Given the description of an element on the screen output the (x, y) to click on. 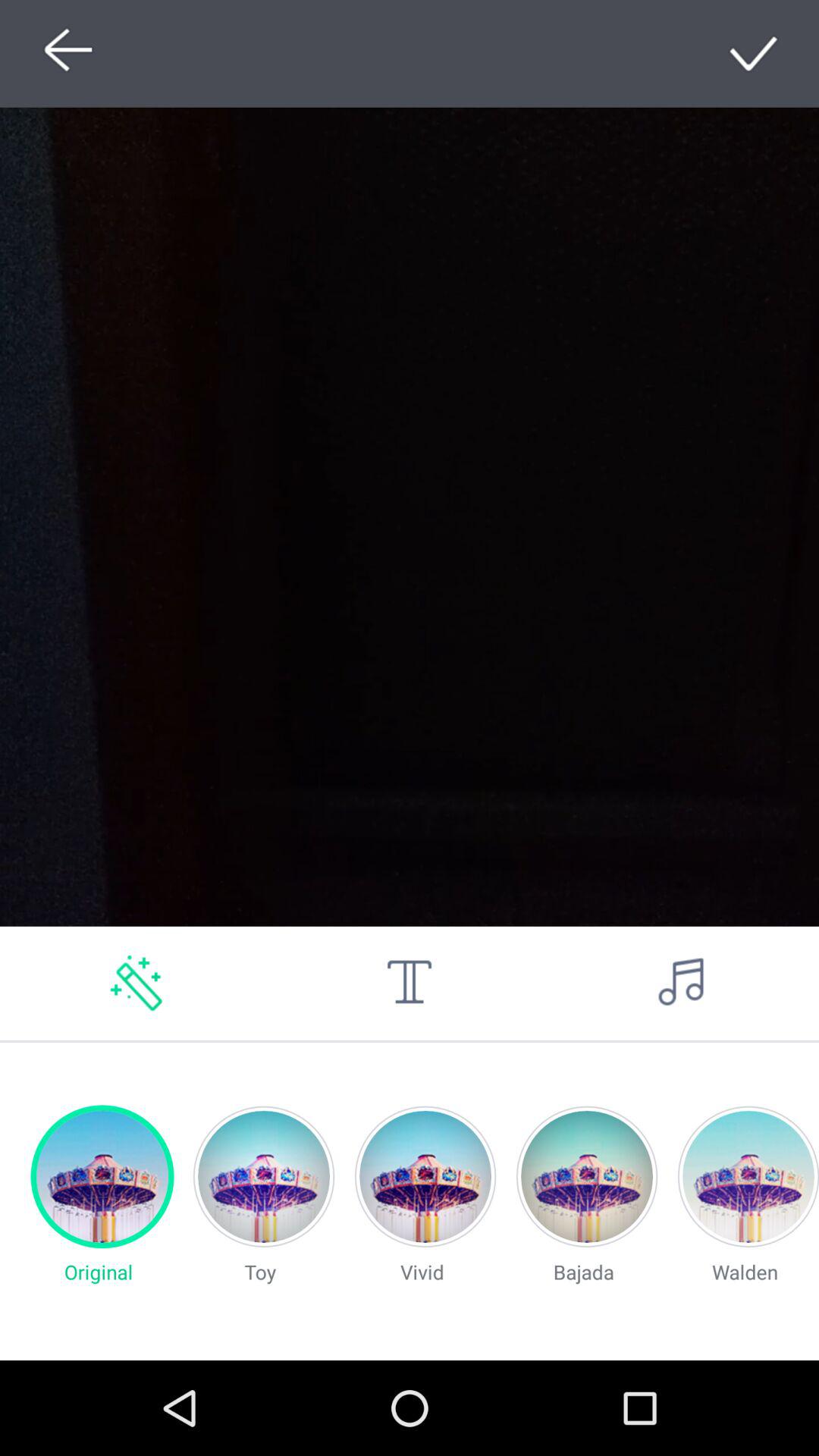
go to select option (754, 53)
